Given the description of an element on the screen output the (x, y) to click on. 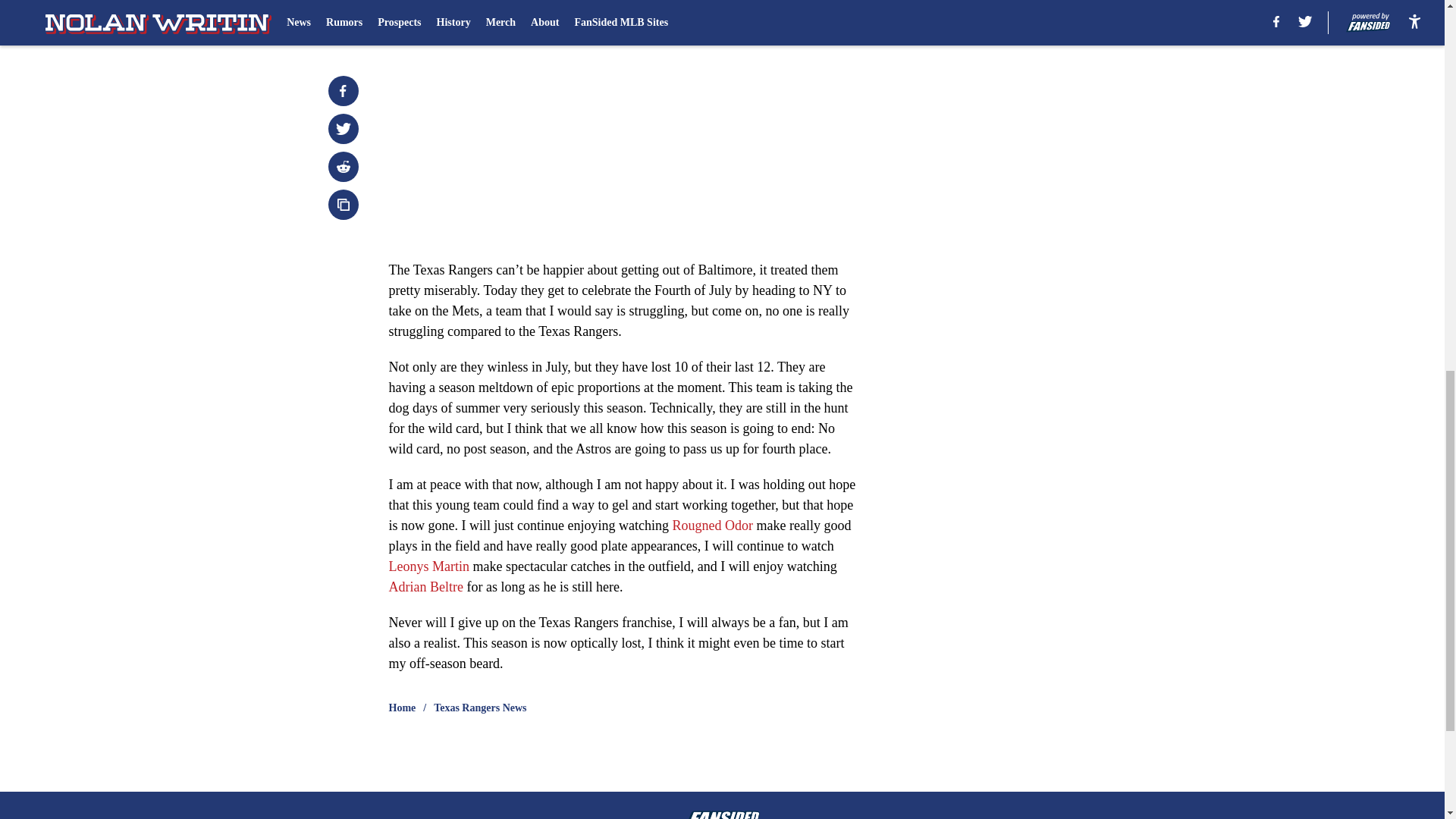
Home (401, 708)
Leonys Martin (428, 566)
Texas Rangers News (479, 708)
Rougned Odor (711, 525)
Adrian Beltre (425, 586)
